Given the description of an element on the screen output the (x, y) to click on. 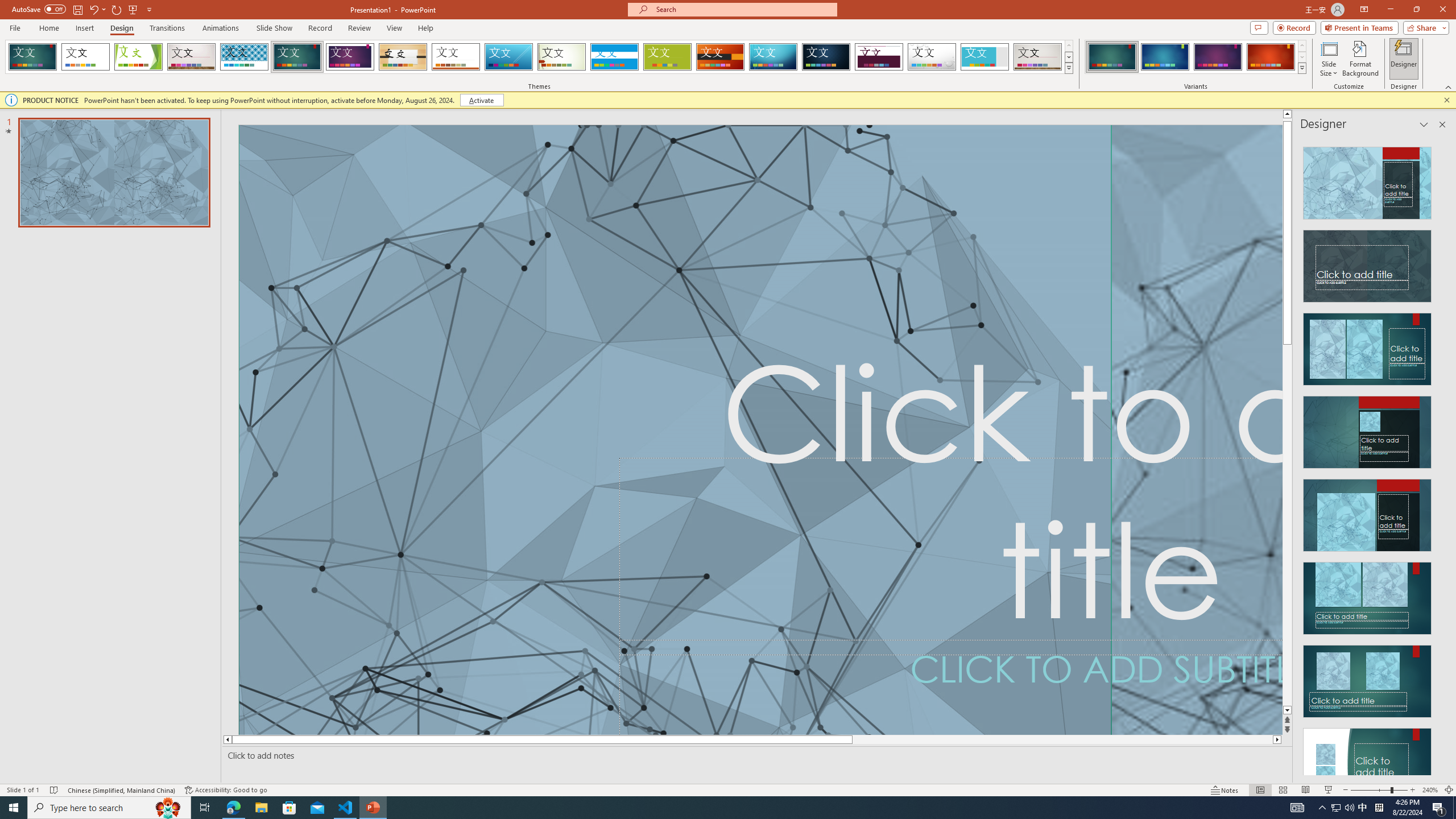
Zoom Out (1370, 790)
Ion (296, 56)
Accessibility Checker Accessibility: Good to go (226, 790)
Insert (83, 28)
Save (77, 9)
Banded (614, 56)
Slide Notes (754, 755)
AutomationID: ThemeVariantsGallery (1195, 56)
Damask (826, 56)
Droplet (931, 56)
Themes (1068, 67)
View (395, 28)
Design (122, 28)
Retrospect (455, 56)
